Given the description of an element on the screen output the (x, y) to click on. 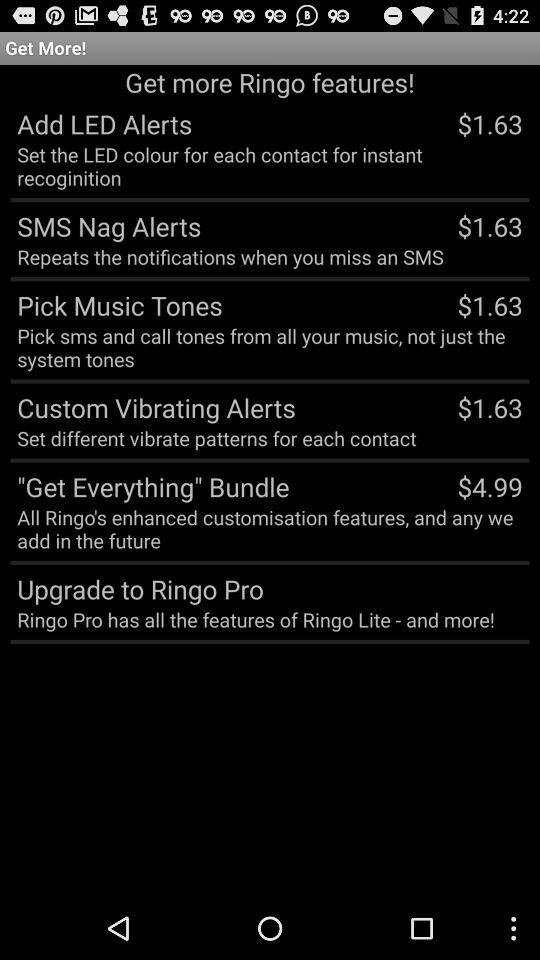
jump until $4.99 app (489, 486)
